Given the description of an element on the screen output the (x, y) to click on. 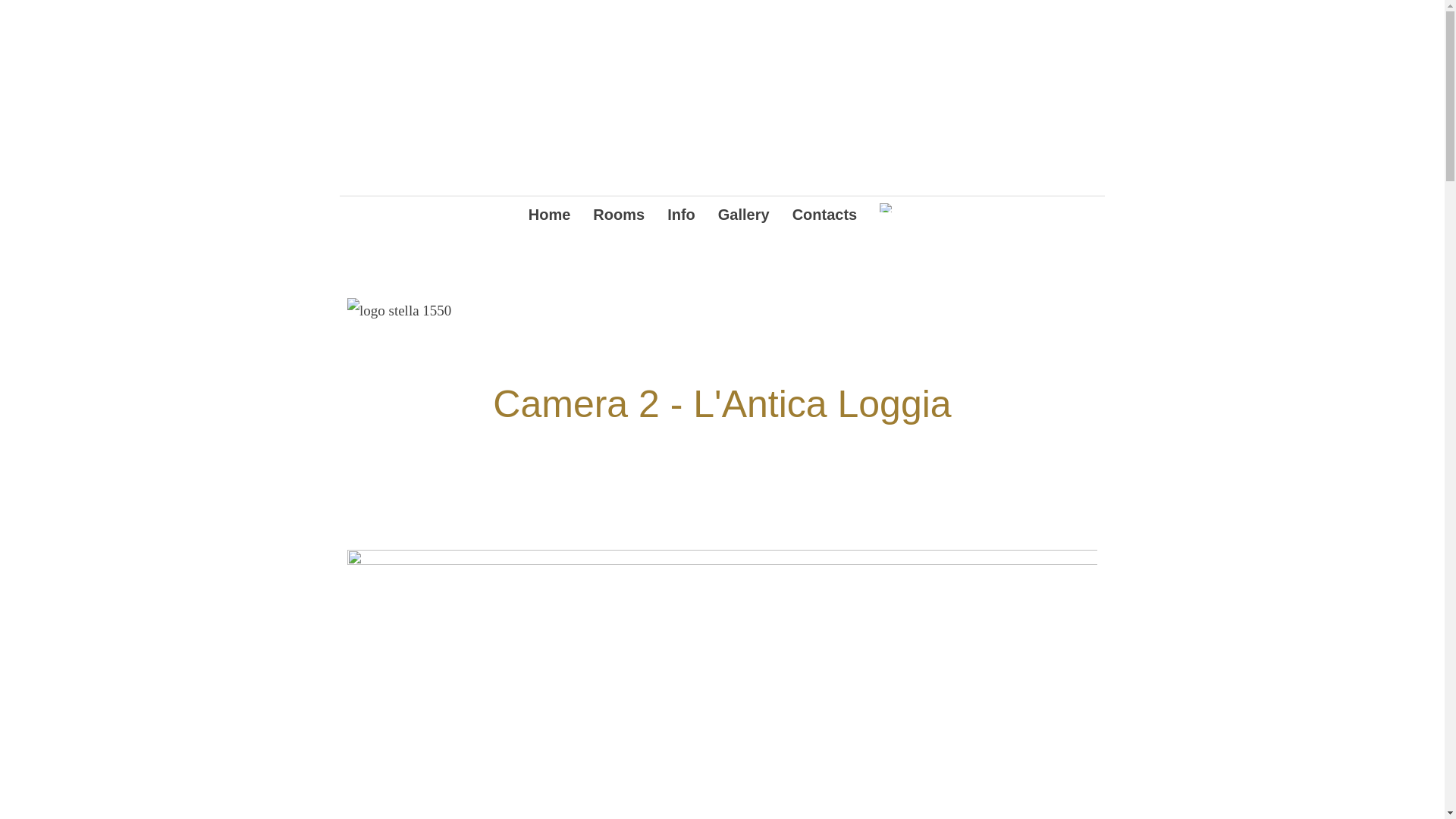
Home Element type: text (549, 216)
Contacts Element type: text (824, 216)
logo stella 1550 Element type: hover (399, 310)
Skip to content Element type: text (339, 197)
1550 Residenza d'Epoca Element type: text (515, 100)
Info Element type: text (681, 216)
Rooms Element type: text (618, 216)
Gallery Element type: text (743, 216)
